Given the description of an element on the screen output the (x, y) to click on. 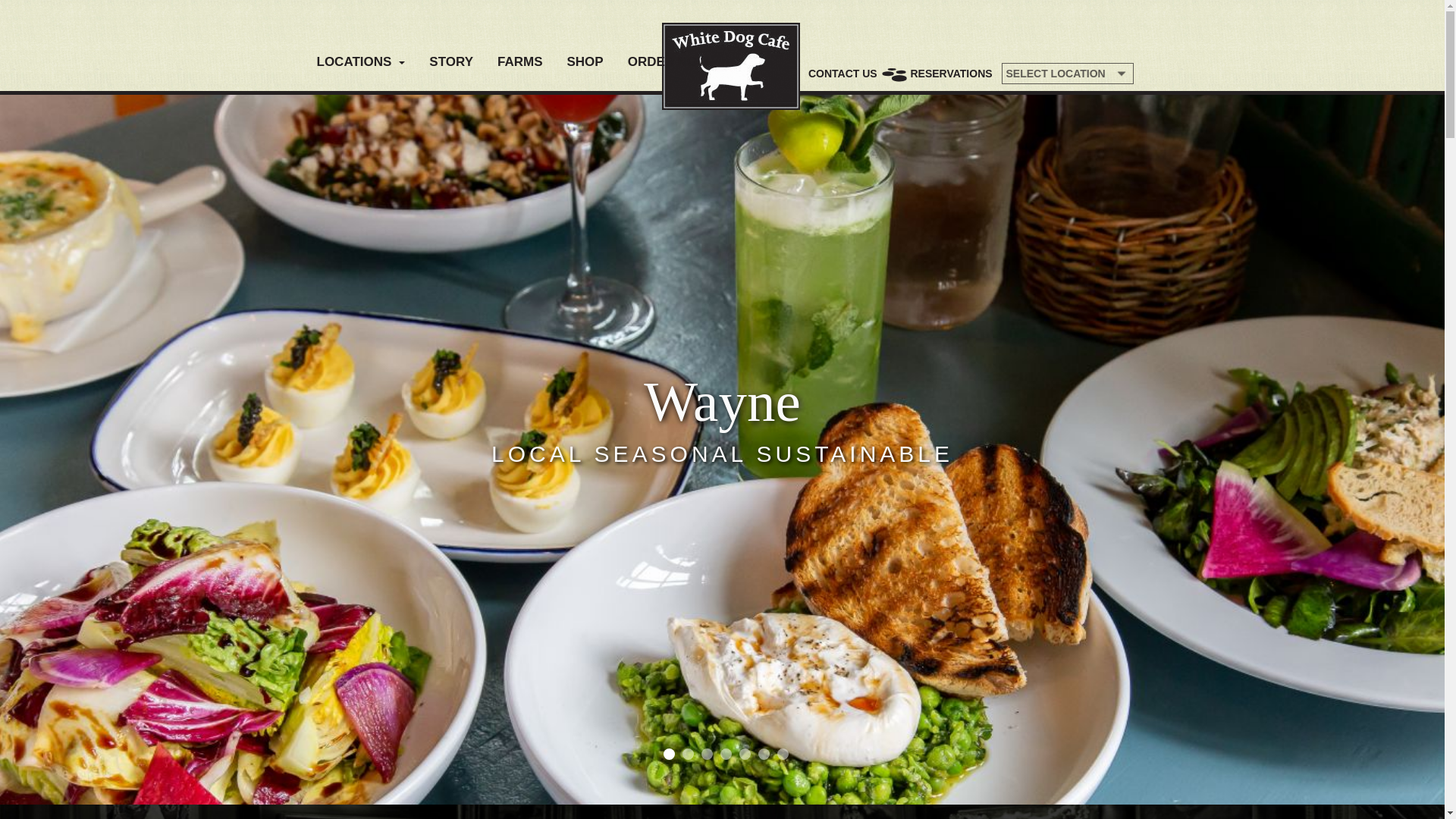
LOCATIONS (360, 61)
STORY (450, 61)
ORDER NOW (667, 61)
FARMS (520, 61)
CONTACT US (842, 73)
SHOP (584, 61)
